Given the description of an element on the screen output the (x, y) to click on. 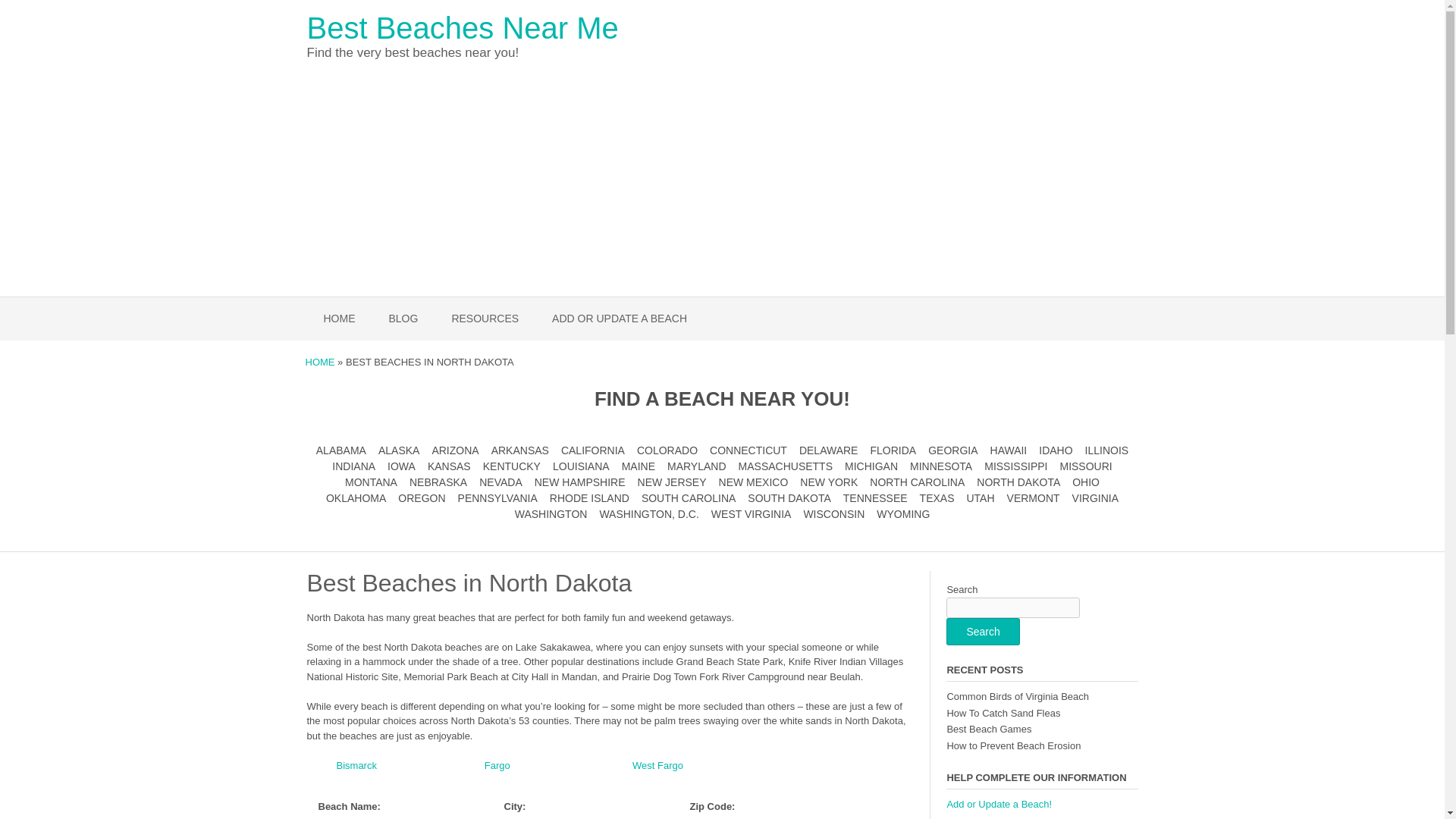
NEBRASKA (438, 482)
NEVADA (500, 482)
ARIZONA (454, 450)
FLORIDA (892, 450)
ILLINOIS (1106, 450)
KENTUCKY (511, 466)
MINNESOTA (941, 466)
Bismarck (356, 765)
ARKANSAS (520, 450)
CONNECTICUT (748, 450)
ALASKA (398, 450)
MARYLAND (696, 466)
IOWA (400, 466)
NEW MEXICO (754, 482)
